Given the description of an element on the screen output the (x, y) to click on. 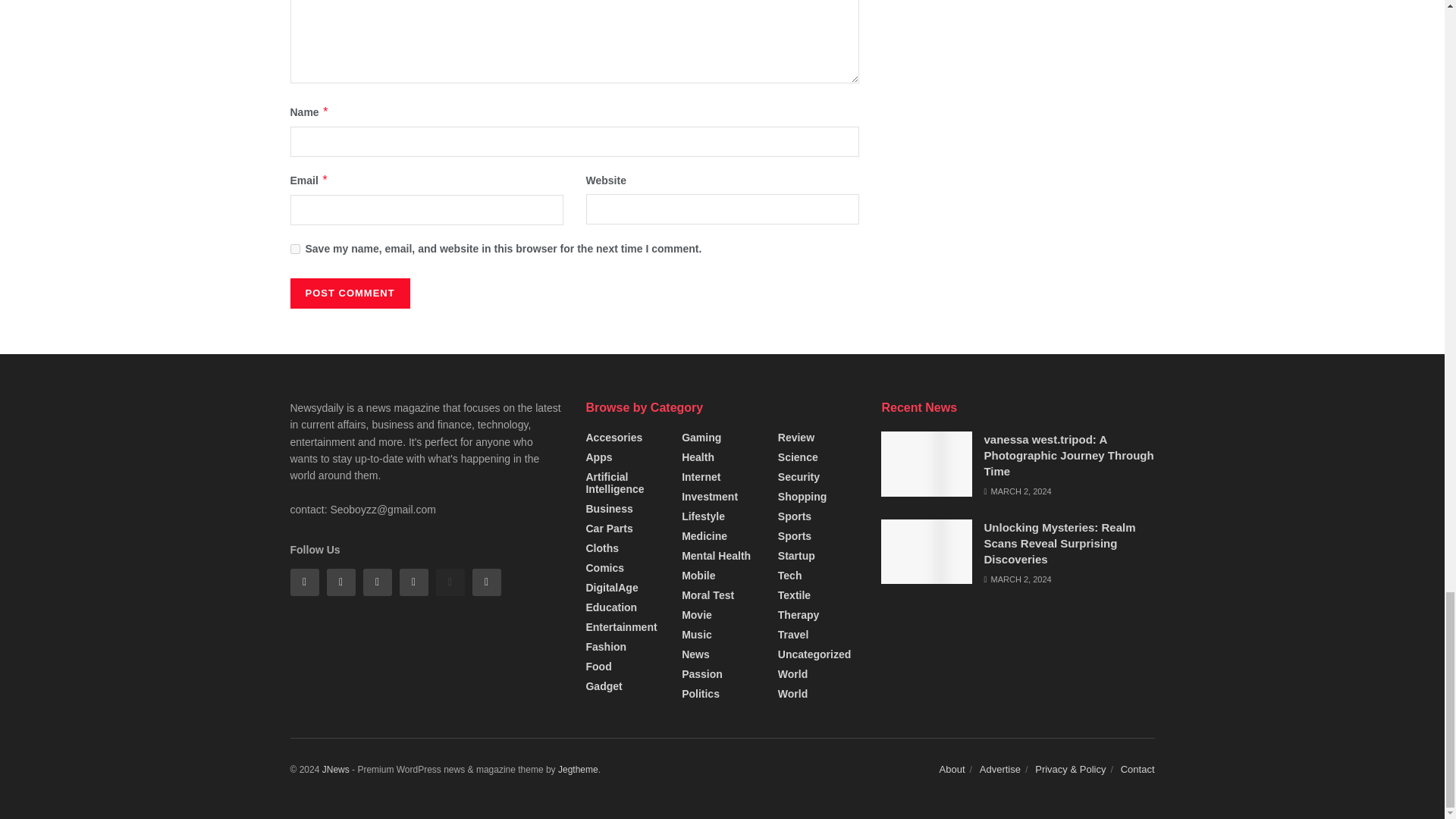
yes (294, 248)
Post Comment (349, 293)
Jegtheme (577, 769)
